Given the description of an element on the screen output the (x, y) to click on. 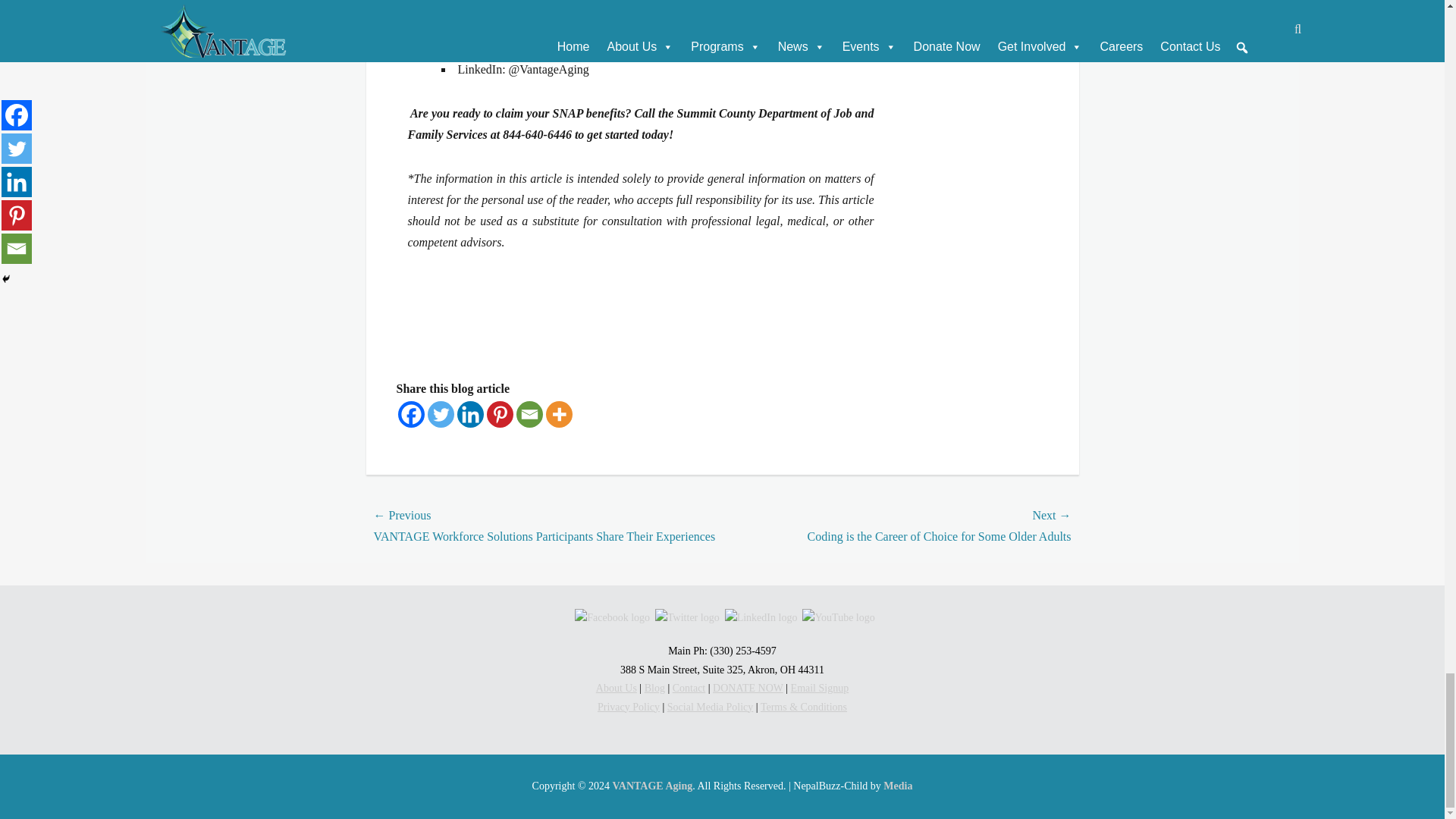
Twitter (441, 414)
Facebook (410, 414)
Pinterest (499, 414)
Linkedin (470, 414)
Email (528, 414)
More (559, 414)
